Given the description of an element on the screen output the (x, y) to click on. 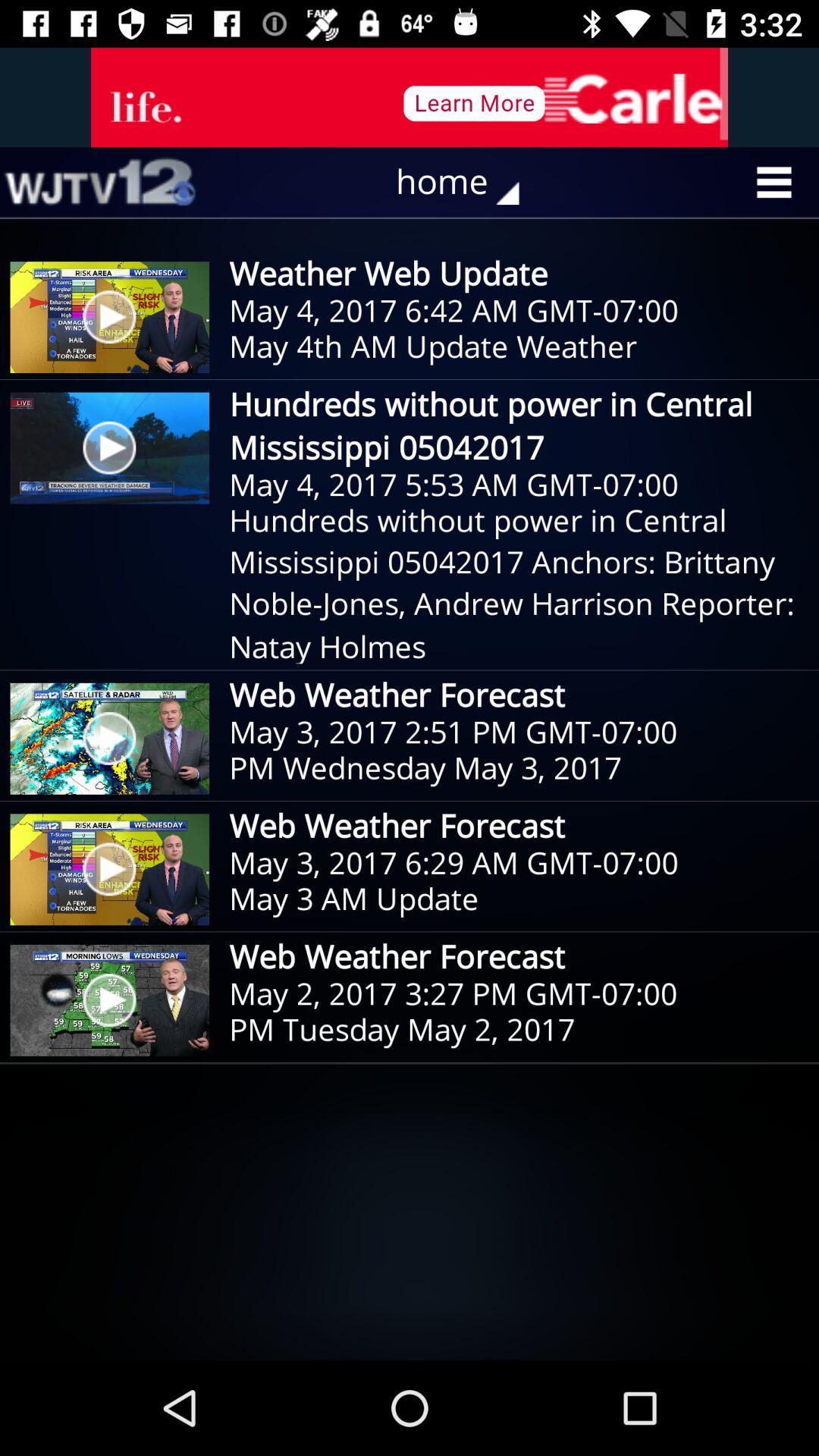
press item next to home item (99, 182)
